Given the description of an element on the screen output the (x, y) to click on. 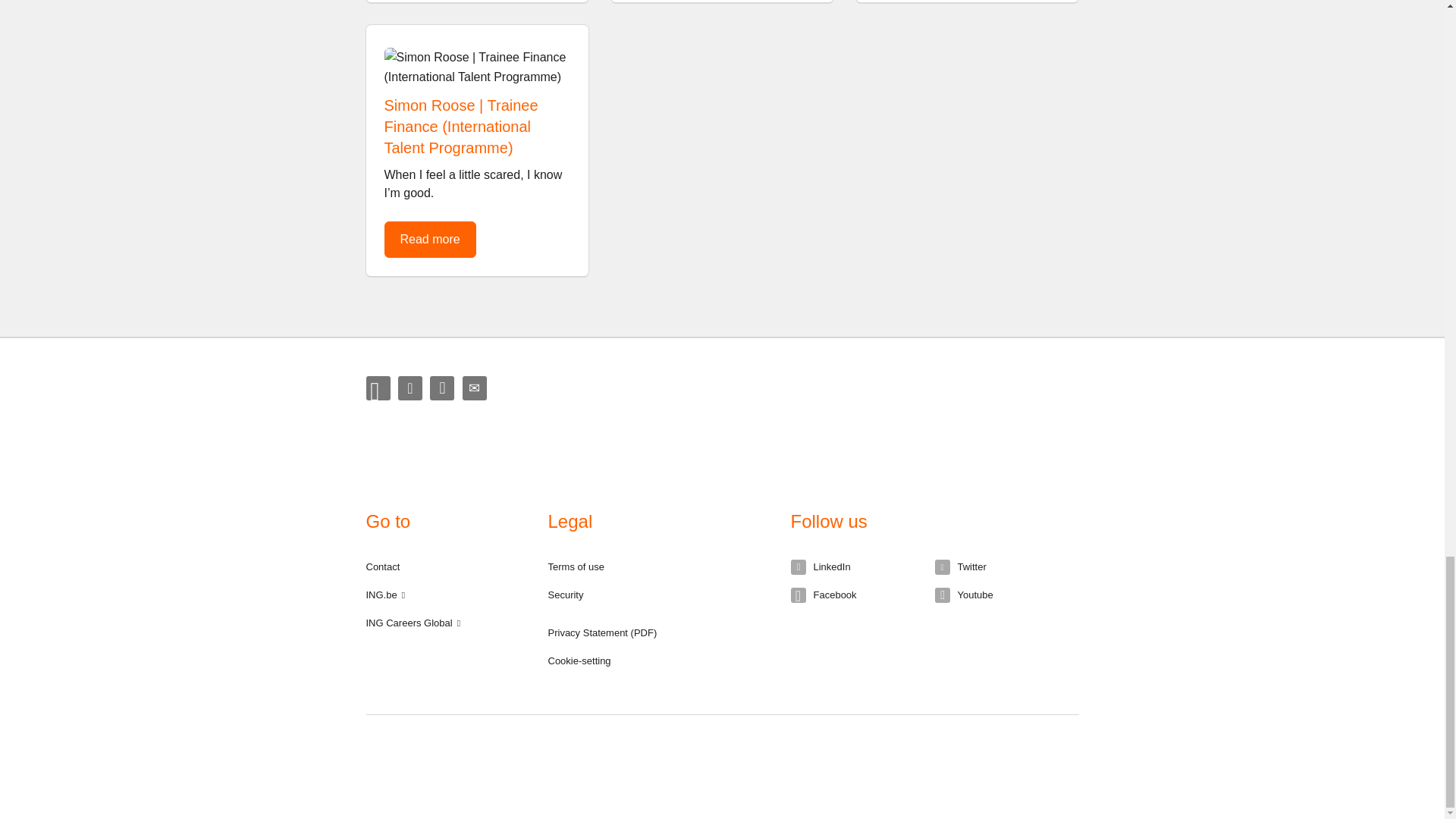
Security (565, 594)
Cookies (578, 660)
Contact (381, 566)
